Given the description of an element on the screen output the (x, y) to click on. 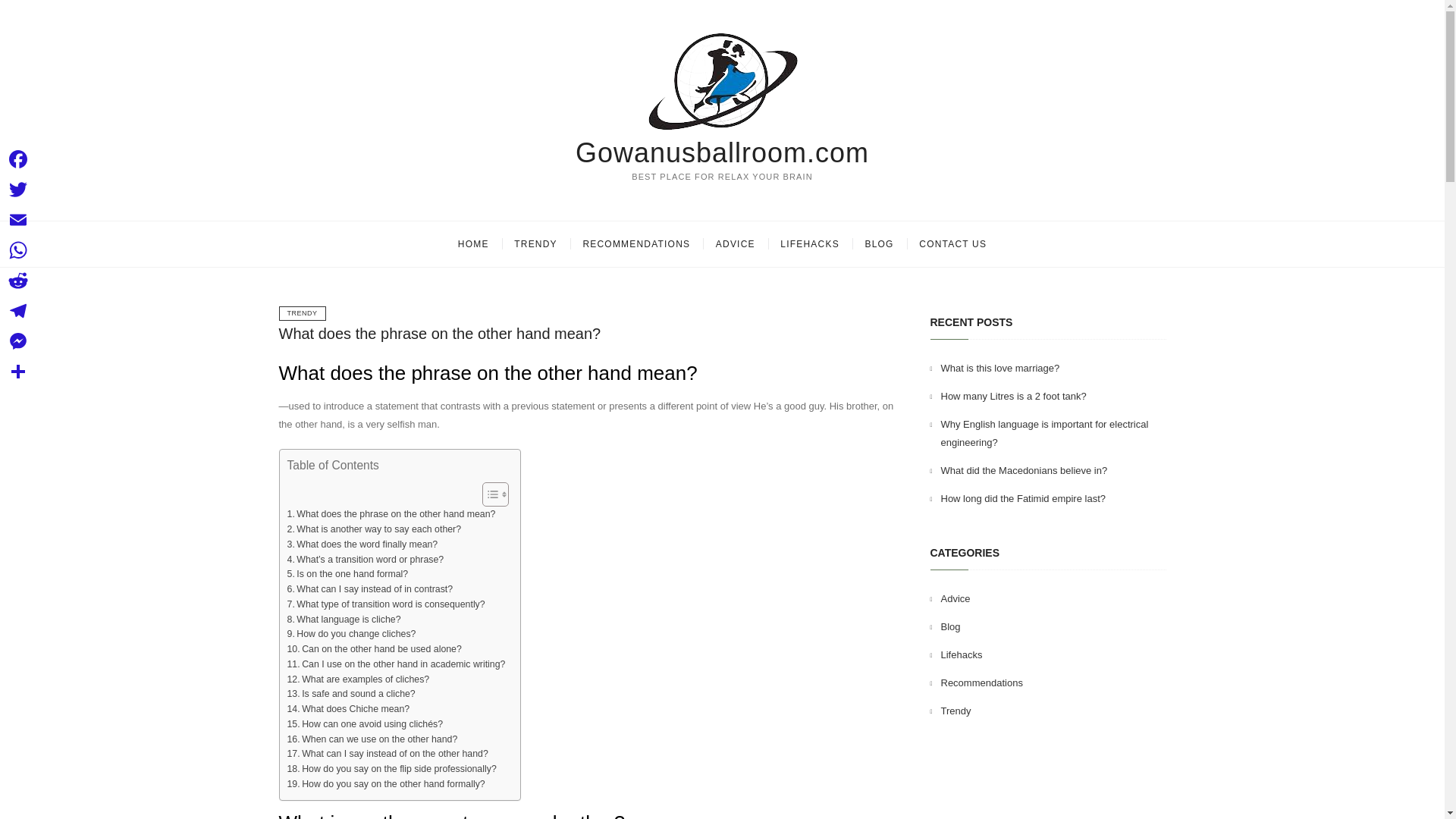
What does Chiche mean? (347, 709)
How do you say on the other hand formally? (385, 784)
How do you say on the flip side professionally? (391, 769)
BLOG (878, 243)
What can I say instead of in contrast? (369, 589)
Is safe and sound a cliche? (350, 694)
What are examples of cliches? (357, 679)
Can on the other hand be used alone? (373, 649)
How do you change cliches? (350, 634)
Is safe and sound a cliche? (350, 694)
ADVICE (735, 243)
What can I say instead of on the other hand? (386, 754)
HOME (473, 243)
What does the word finally mean? (362, 544)
RECOMMENDATIONS (635, 243)
